Given the description of an element on the screen output the (x, y) to click on. 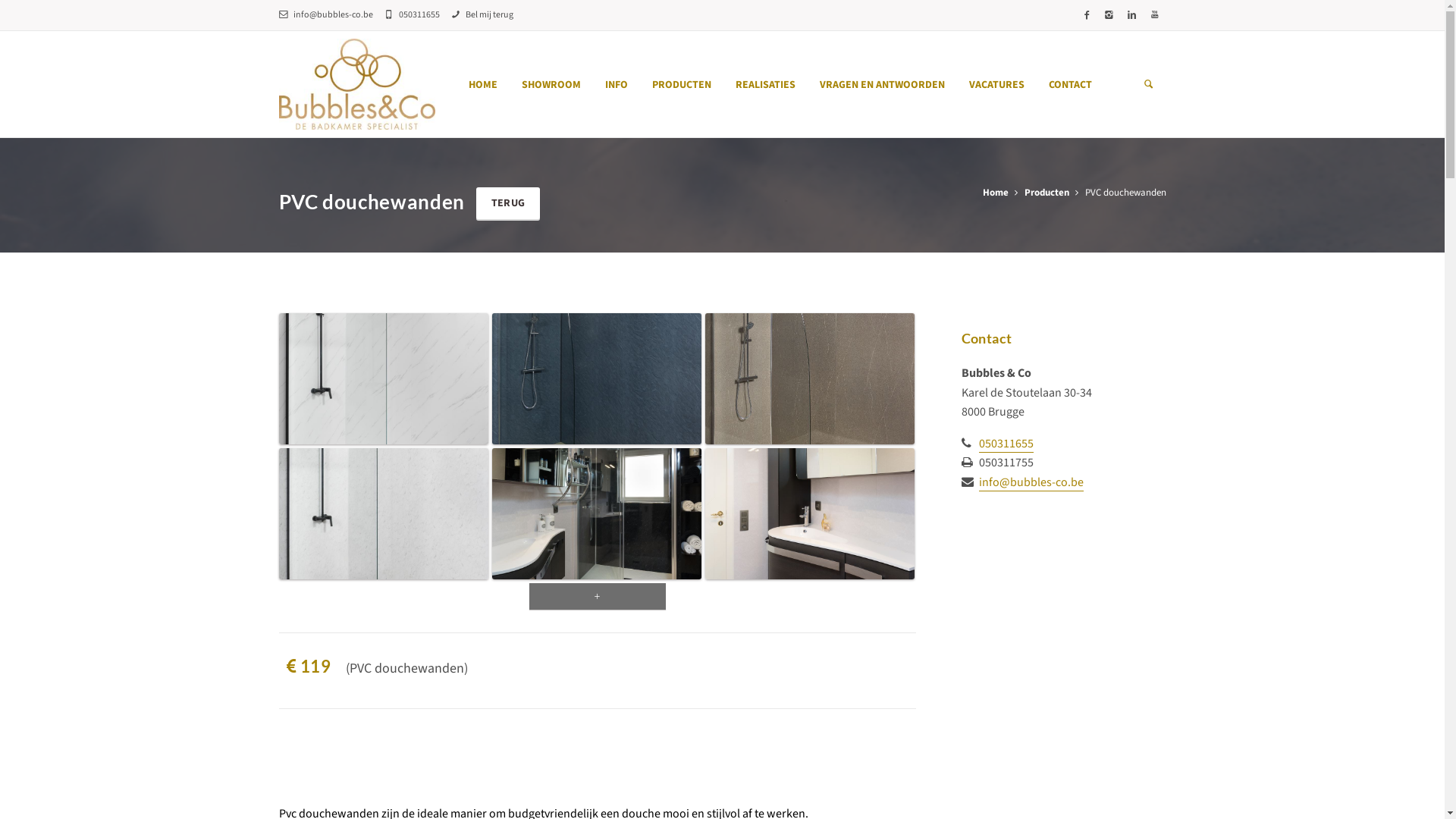
REALISATIES Element type: text (765, 84)
PRODUCTEN Element type: text (681, 84)
SHOWROOM Element type: text (551, 84)
TERUG Element type: text (507, 203)
Home Element type: text (995, 192)
info@bubbles-co.be Element type: text (326, 15)
HOME Element type: text (482, 84)
INFO Element type: text (616, 84)
CONTACT Element type: text (1070, 84)
050311655 Element type: text (1005, 443)
Producten Element type: text (1045, 192)
Bel mij terug Element type: text (481, 15)
VACATURES Element type: text (996, 84)
info@bubbles-co.be Element type: text (1030, 482)
VRAGEN EN ANTWOORDEN Element type: text (882, 84)
